Given the description of an element on the screen output the (x, y) to click on. 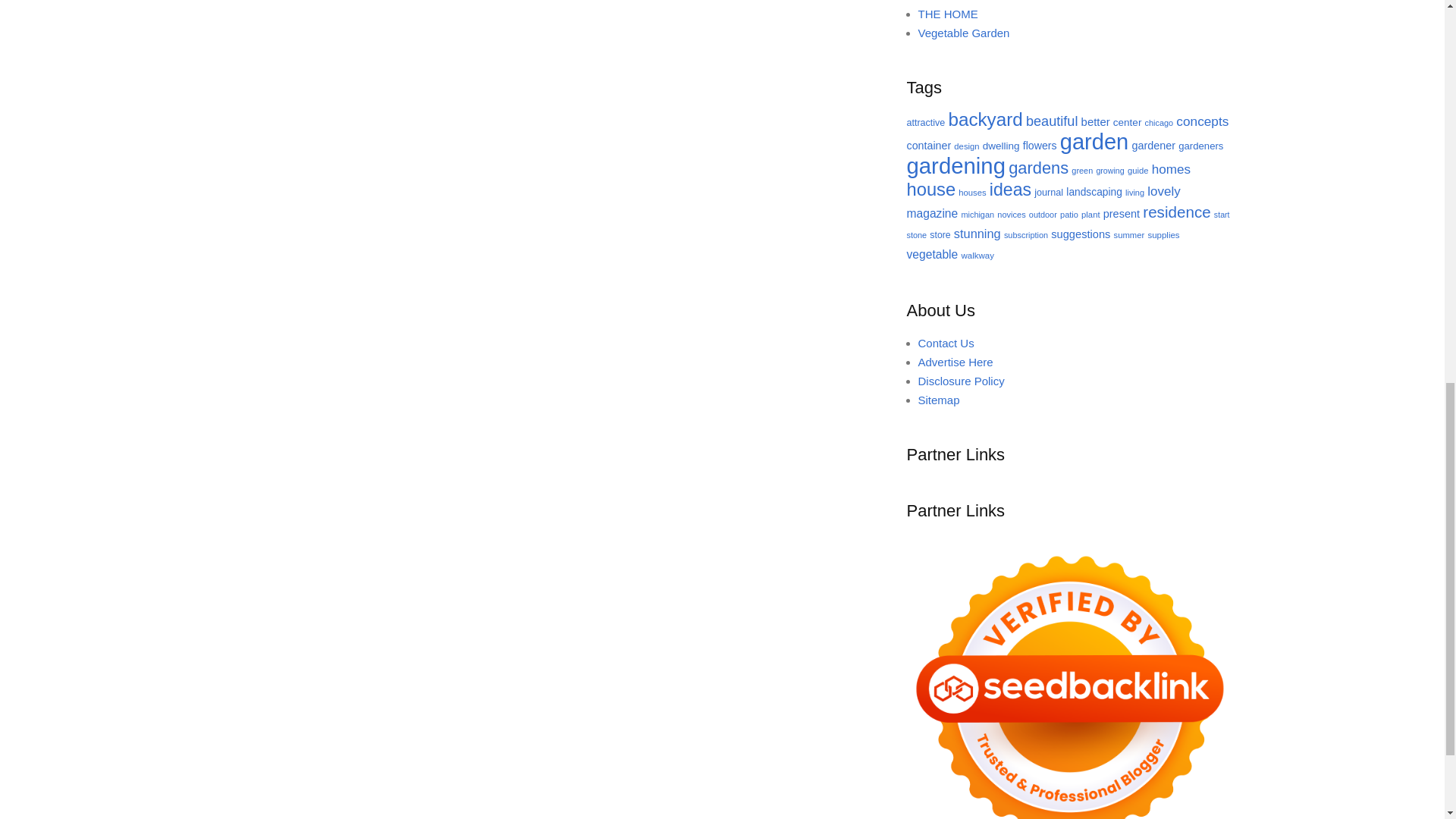
Seedbacklink (1070, 676)
